Given the description of an element on the screen output the (x, y) to click on. 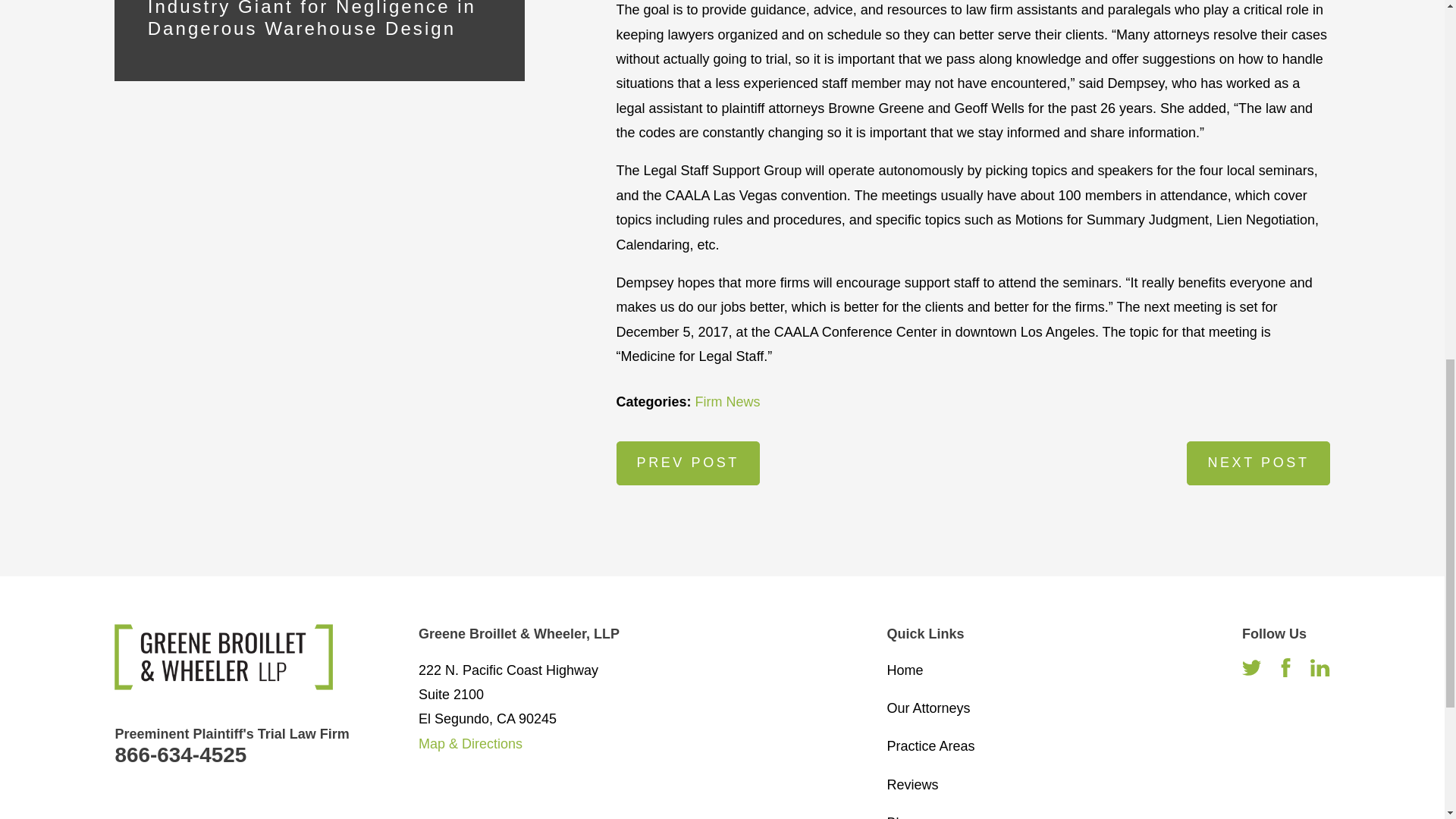
Home (224, 657)
LinkedIn (1319, 667)
Facebook (1285, 667)
Twitter (1250, 667)
